Given the description of an element on the screen output the (x, y) to click on. 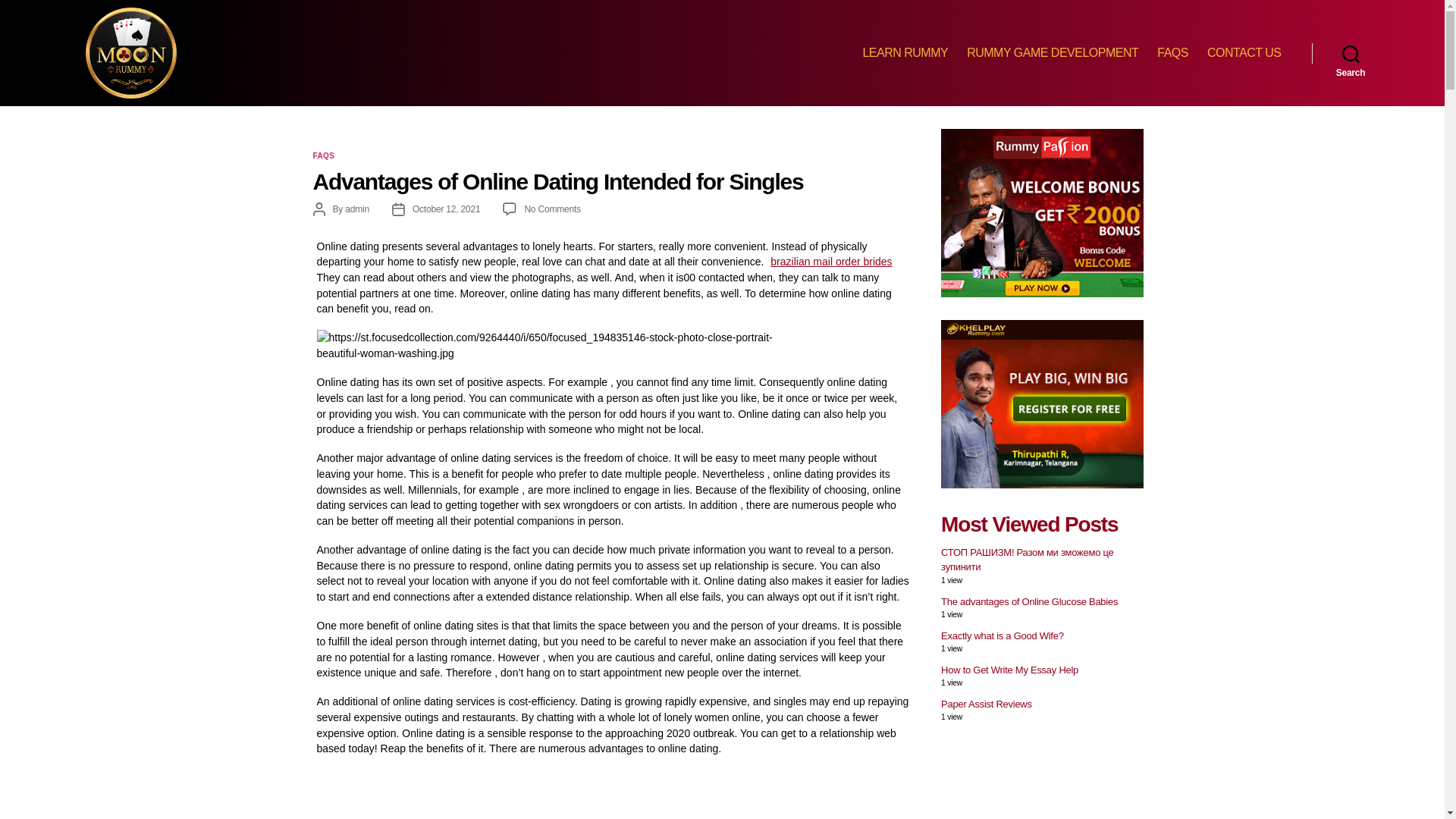
RUMMY GAME DEVELOPMENT (1052, 52)
FAQS (1172, 52)
admin (357, 208)
Paper Assist Reviews (986, 704)
The advantages of Online Glucose Babies (1029, 601)
LEARN RUMMY (904, 52)
FAQS (323, 156)
Exactly what is a Good Wife? (1002, 635)
How to Get Write My Essay Help (1009, 669)
Search (1350, 52)
brazilian mail order brides (829, 261)
October 12, 2021 (446, 208)
CONTACT US (1244, 52)
